Given the description of an element on the screen output the (x, y) to click on. 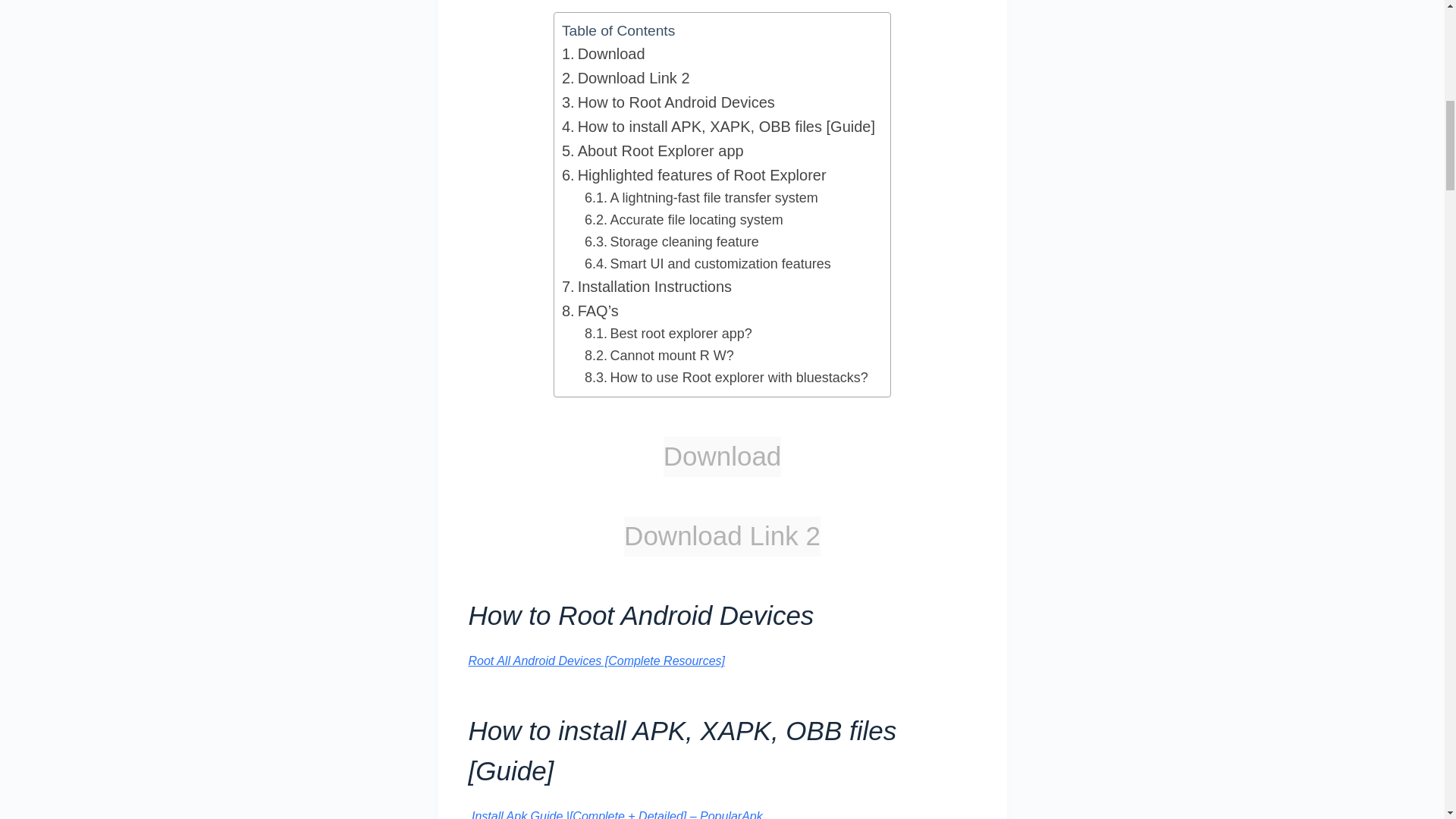
Highlighted features of Root Explorer (694, 174)
About Root Explorer app (653, 150)
Smart UI and customization features (708, 264)
Download (603, 53)
Download Link 2 (626, 78)
Storage cleaning feature (671, 241)
Accurate file locating system (684, 219)
Download (603, 53)
How to Root Android Devices (668, 102)
Highlighted features of Root Explorer (694, 174)
